Given the description of an element on the screen output the (x, y) to click on. 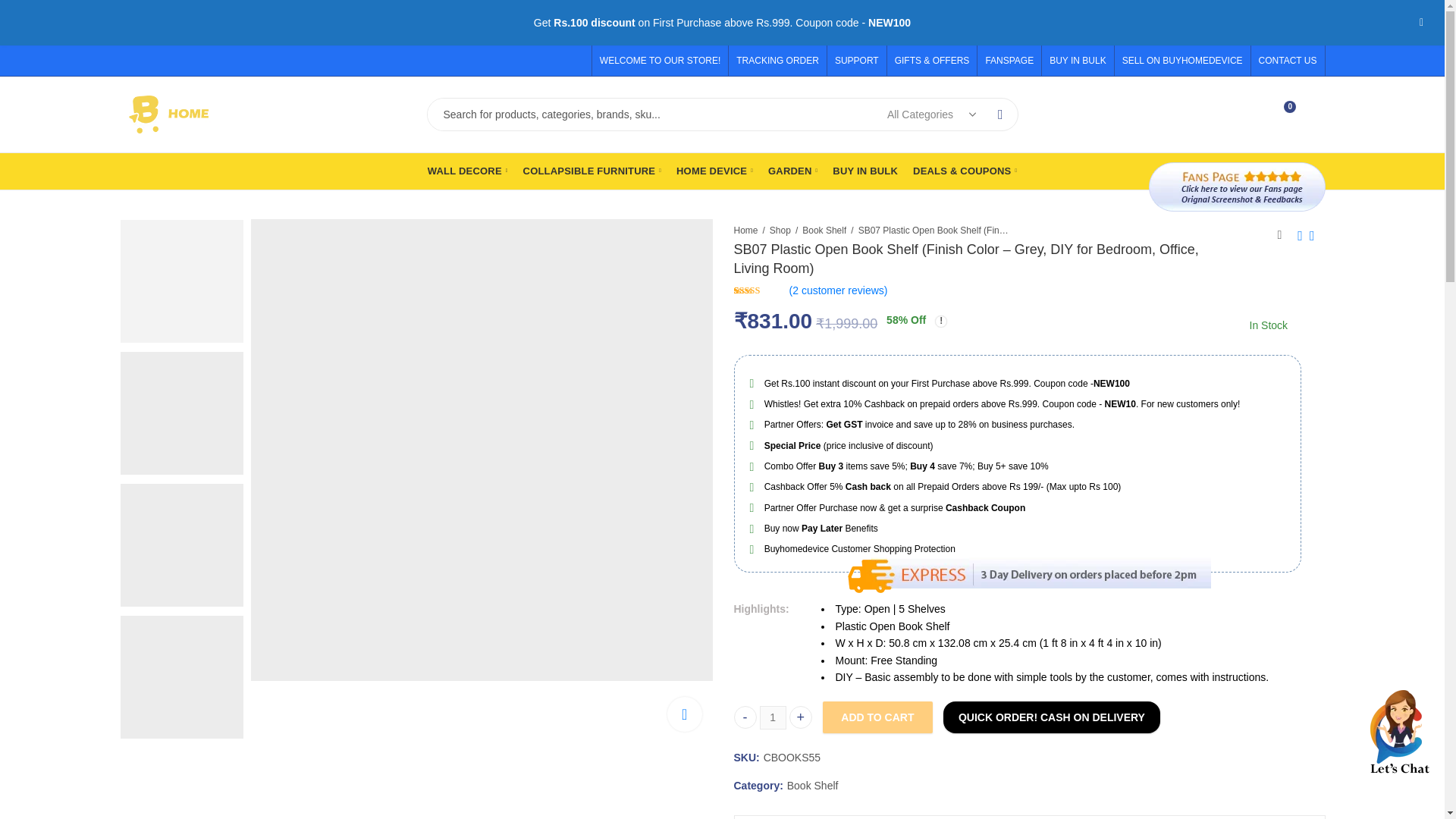
- (745, 716)
FANSPAGE (1008, 60)
SEARCH (999, 114)
COLLAPSIBLE FURNITURE (1244, 114)
WALL DECORE (591, 171)
CONTACT US (467, 171)
BUY IN BULK (1283, 60)
SELL ON BUYHOMEDEVICE (1077, 60)
TRACKING ORDER (1182, 60)
1 (781, 60)
SUPPORT (773, 717)
